Given the description of an element on the screen output the (x, y) to click on. 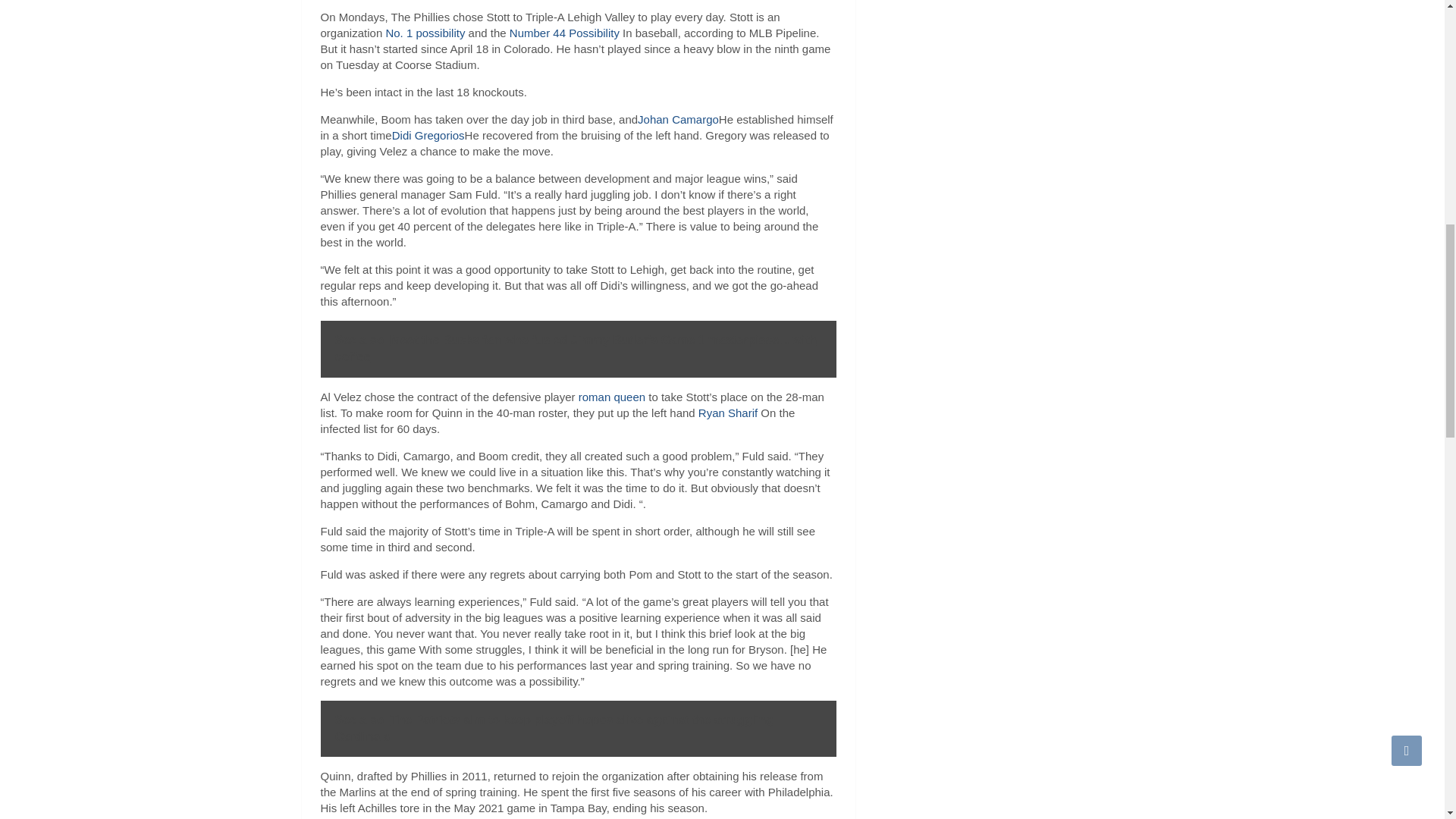
Number 44 Possibility (564, 32)
Johan Camargo (678, 119)
roman queen (611, 396)
Didi Gregorios (427, 134)
Ryan Sharif (727, 412)
No. 1 possibility (424, 32)
